Given the description of an element on the screen output the (x, y) to click on. 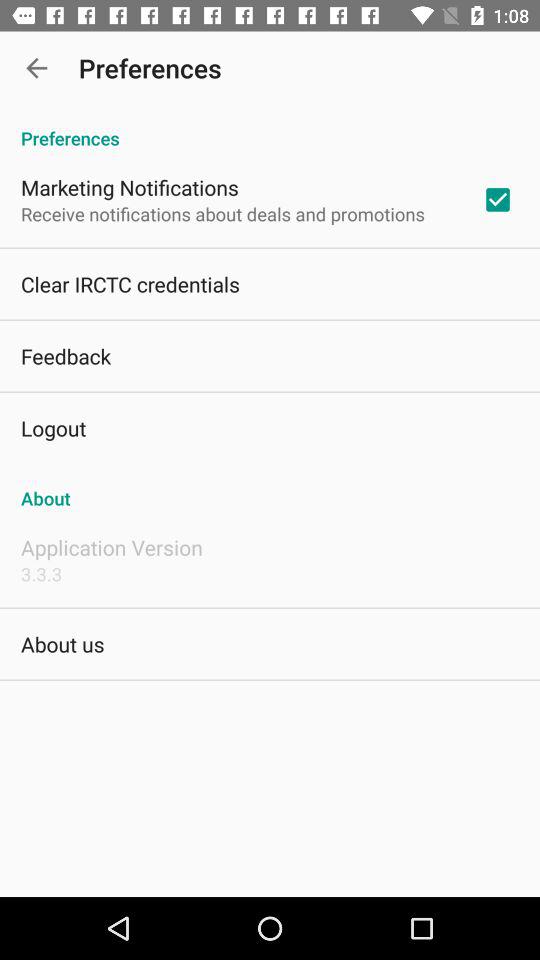
click item next to the receive notifications about app (497, 199)
